Given the description of an element on the screen output the (x, y) to click on. 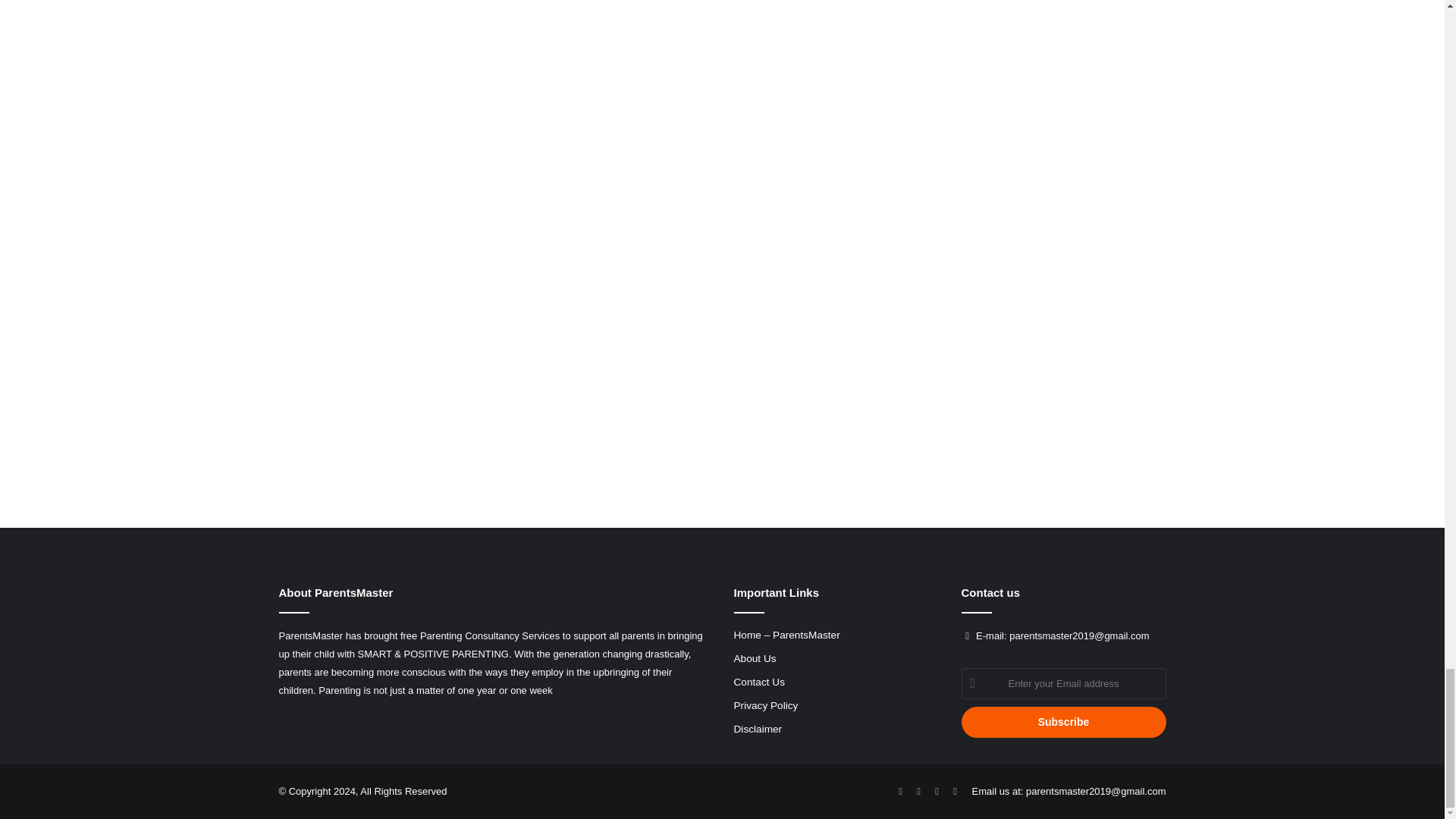
Subscribe (1063, 721)
